Given the description of an element on the screen output the (x, y) to click on. 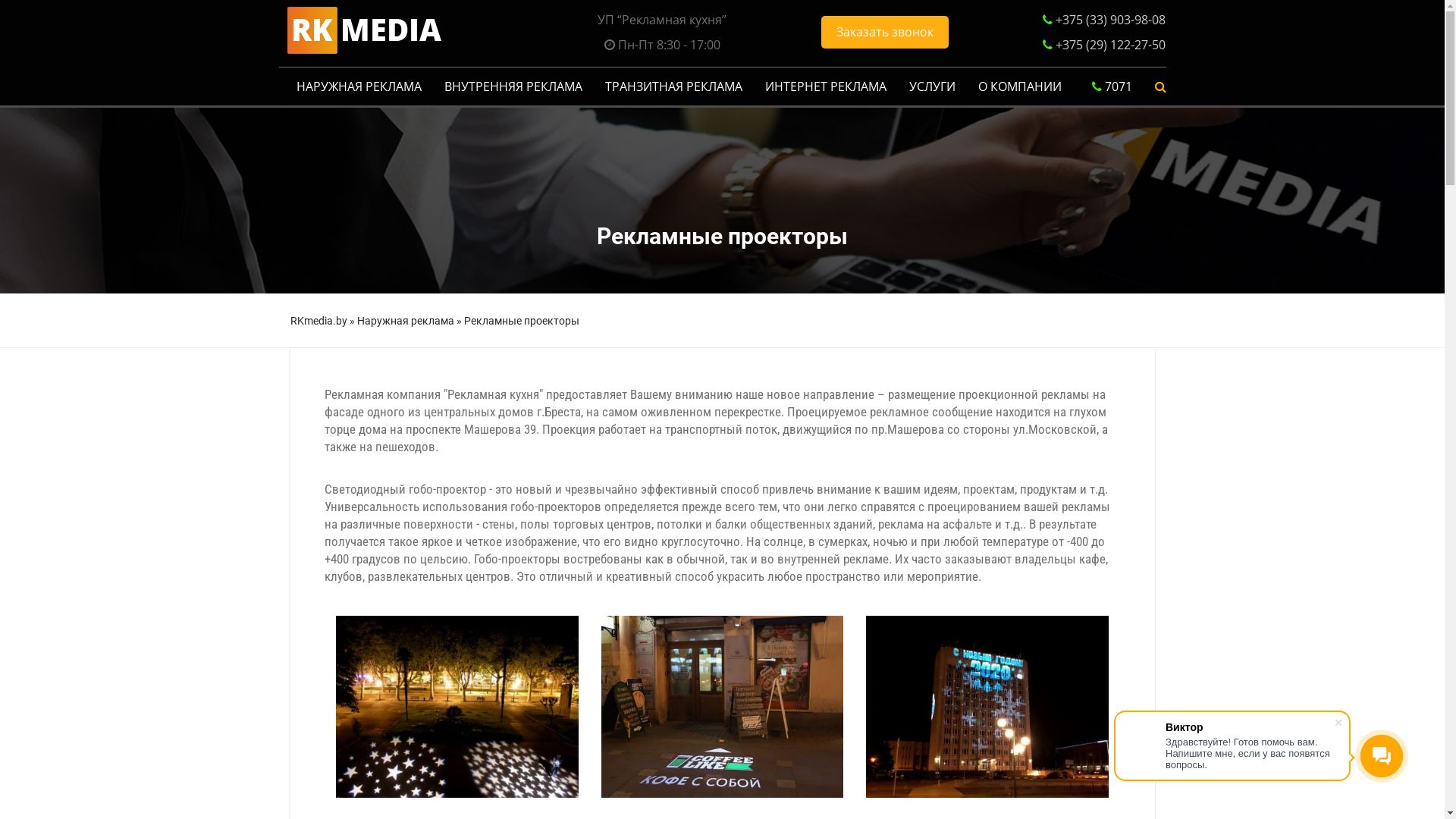
+375 (29) 122-27-50 Element type: text (1108, 44)
+375 (33) 903-98-08 Element type: text (1110, 18)
7071 Element type: text (1110, 86)
RKmedia.by Element type: text (317, 320)
